Given the description of an element on the screen output the (x, y) to click on. 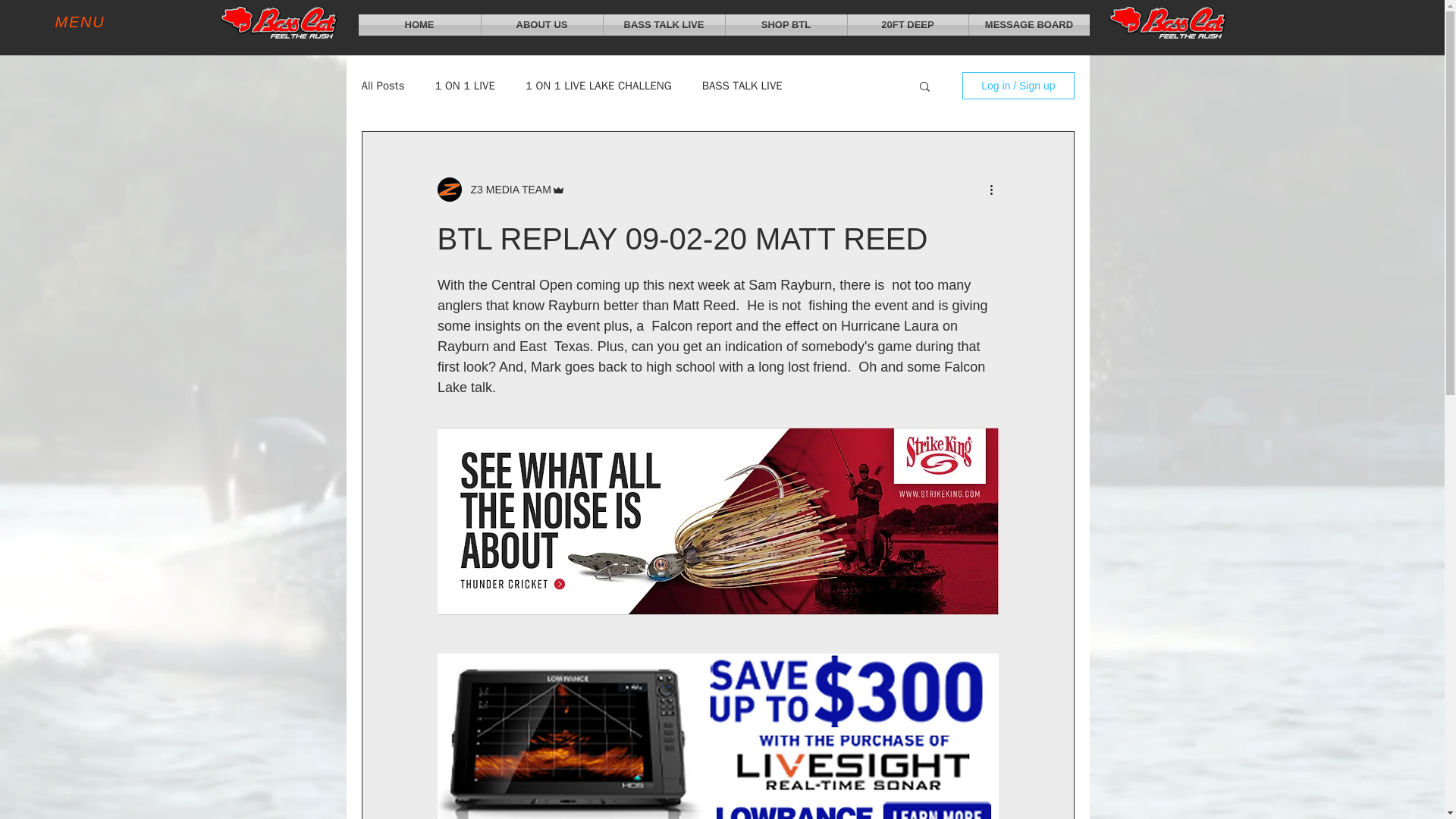
BASS TALK LIVE (742, 85)
1 ON 1 LIVE (464, 85)
Z3 MEDIA TEAM (500, 189)
All Posts (382, 85)
SHOP BTL (785, 25)
ABOUT US (541, 25)
HOME (419, 25)
Z3 MEDIA TEAM (505, 189)
MESSAGE BOARD (1029, 25)
20FT DEEP (907, 25)
